Given the description of an element on the screen output the (x, y) to click on. 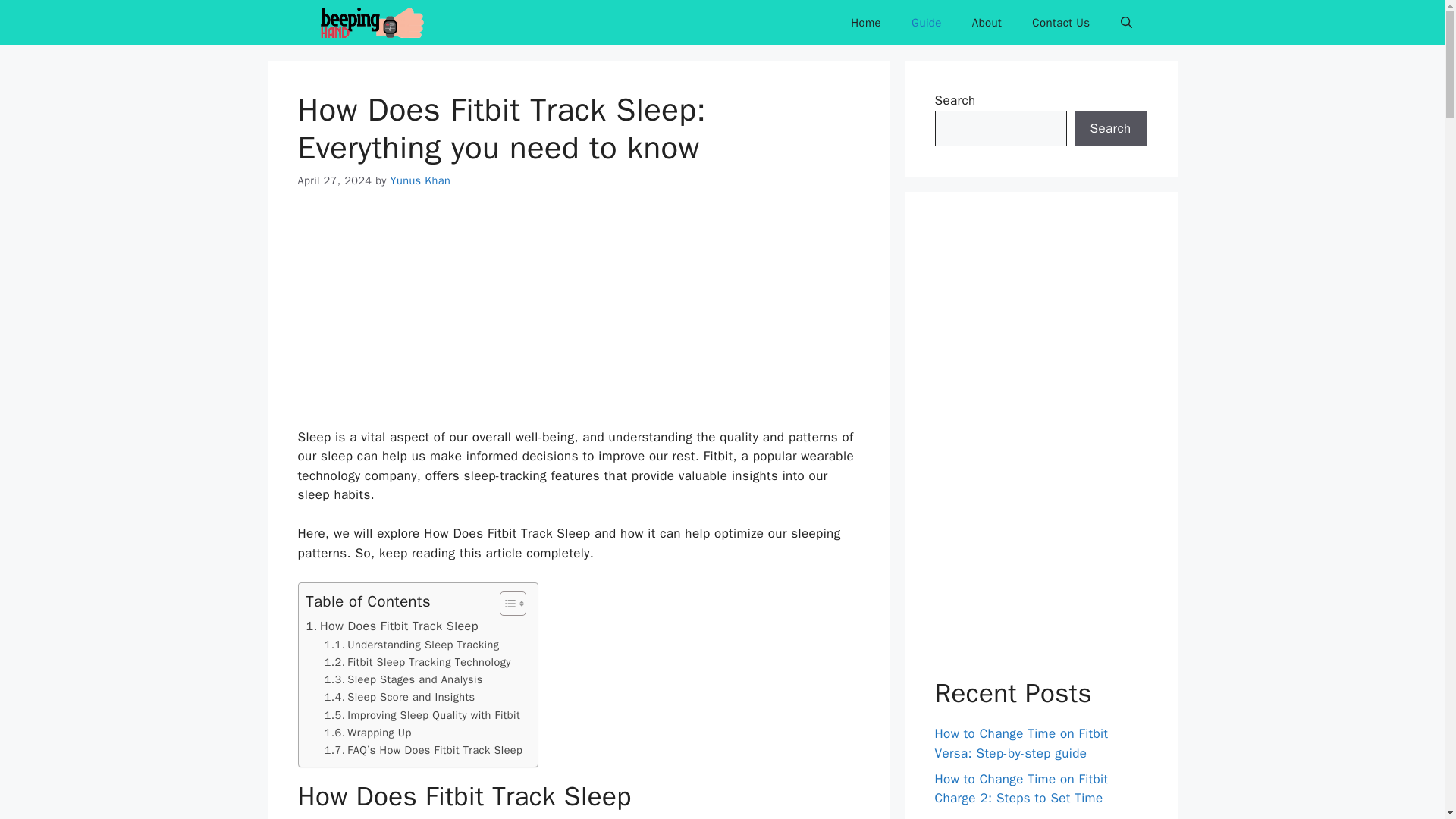
Yunus Khan (420, 180)
Sleep Score and Insights (400, 696)
Understanding Sleep Tracking (411, 644)
How Does Fitbit Track Sleep (392, 626)
Guide (926, 22)
About (986, 22)
Fitbit Sleep Tracking Technology (417, 661)
Sleep Score and Insights (400, 696)
Sleep Stages and Analysis (403, 679)
Home (865, 22)
